Given the description of an element on the screen output the (x, y) to click on. 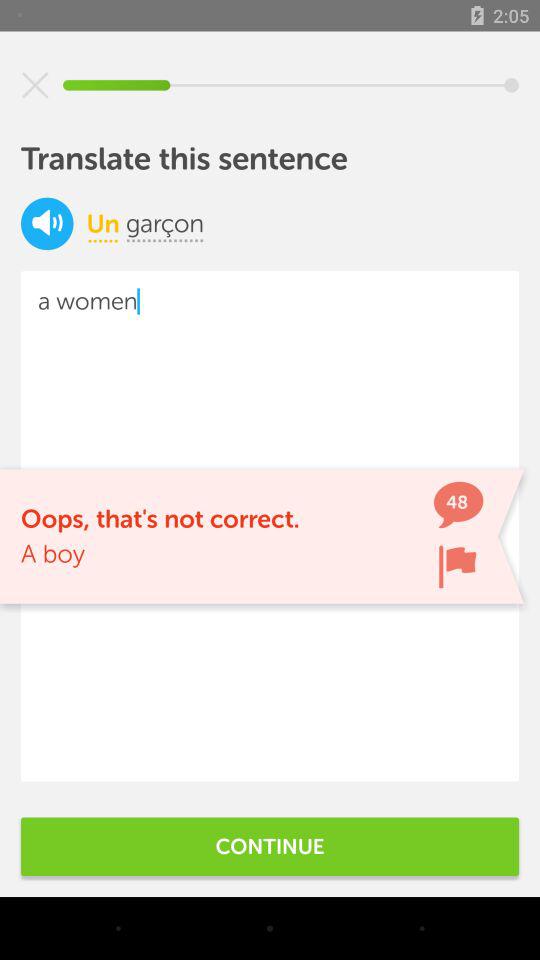
select icon above a women item (47, 223)
